Given the description of an element on the screen output the (x, y) to click on. 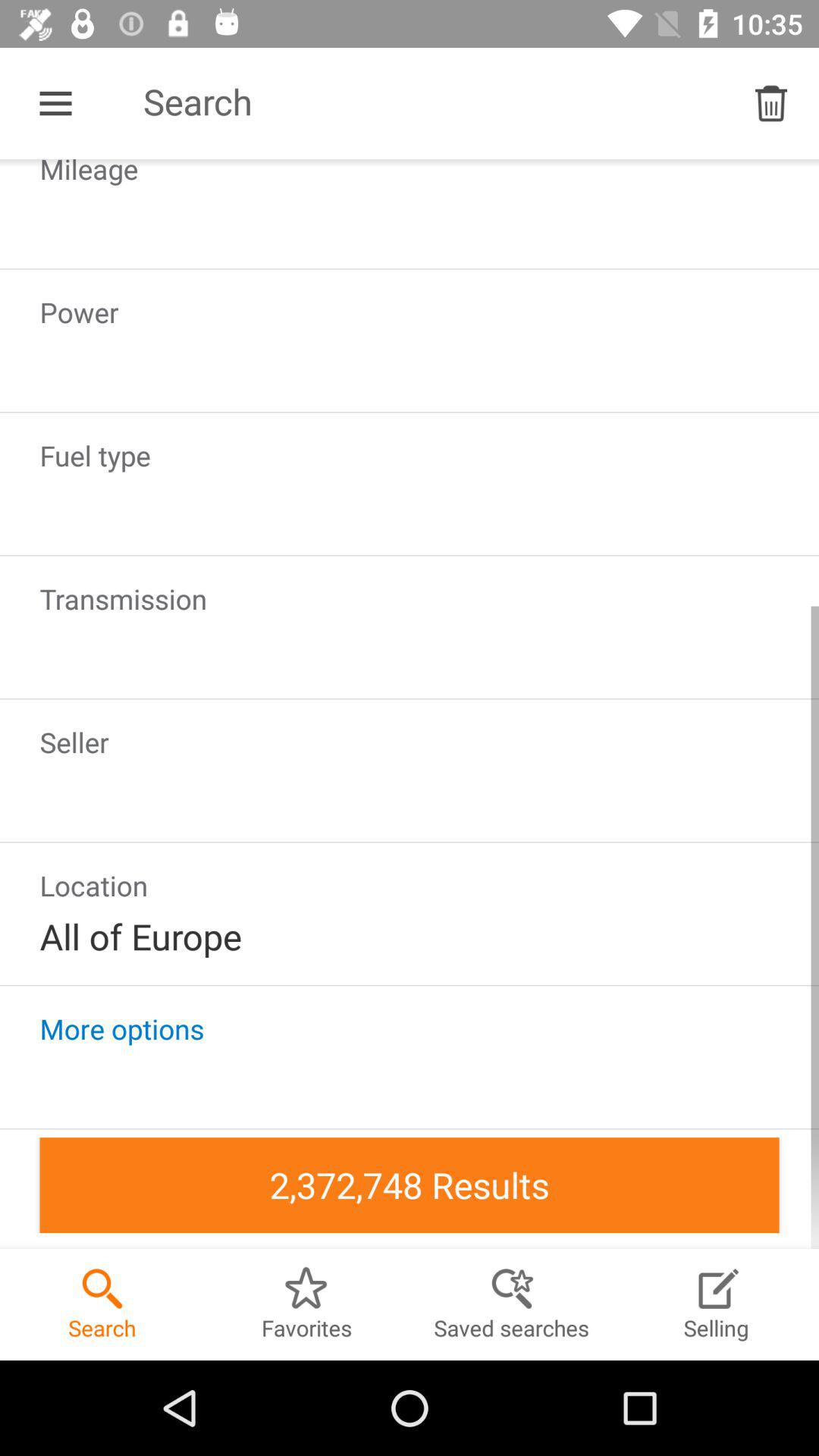
choose the item at the top right corner (771, 103)
